Given the description of an element on the screen output the (x, y) to click on. 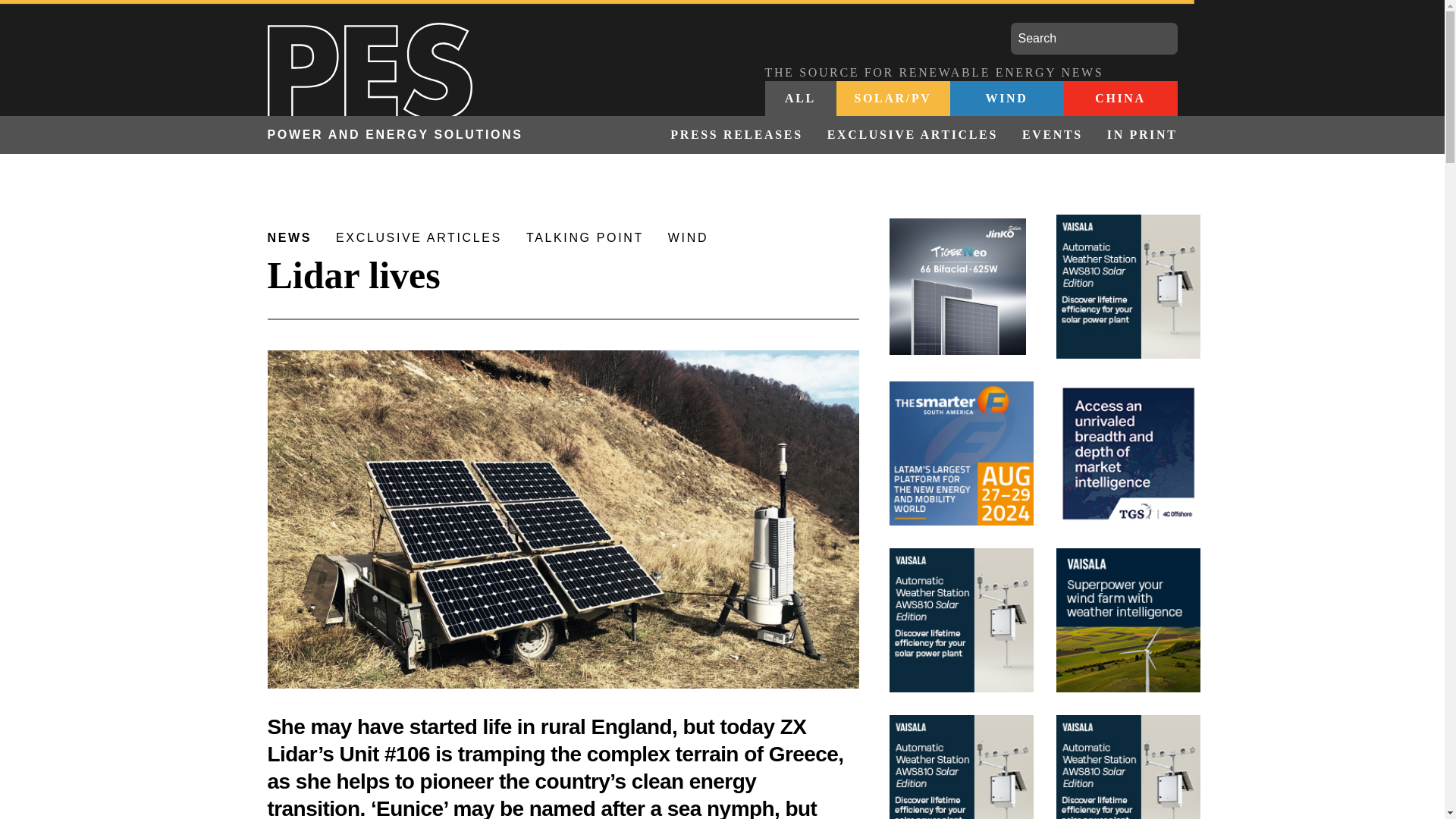
IN PRINT (1135, 134)
CHINA (1119, 98)
PRESS RELEASES (735, 134)
WIND (1005, 98)
Search for: (1093, 38)
EVENTS (1052, 134)
EXCLUSIVE ARTICLES (912, 134)
ALL (799, 98)
